Given the description of an element on the screen output the (x, y) to click on. 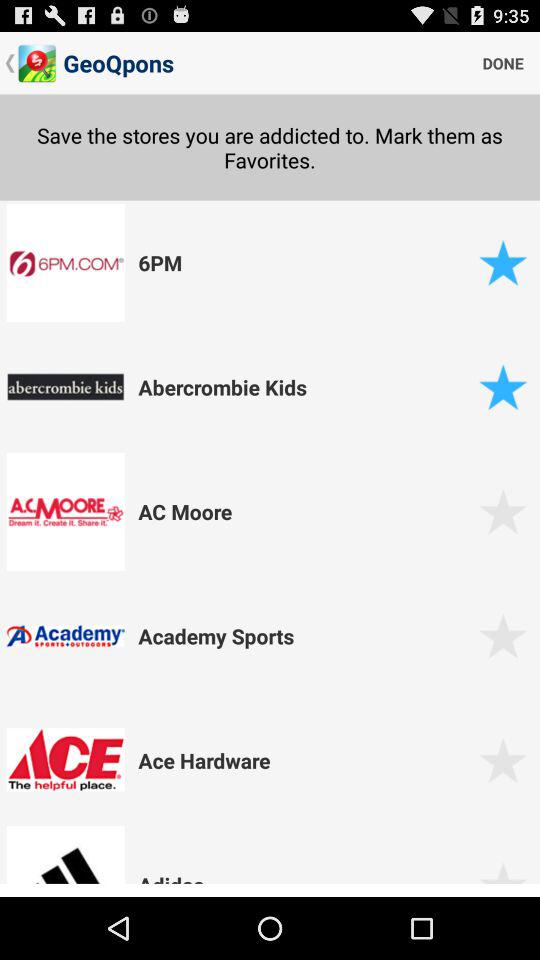
open the abercrombie kids app (305, 386)
